Given the description of an element on the screen output the (x, y) to click on. 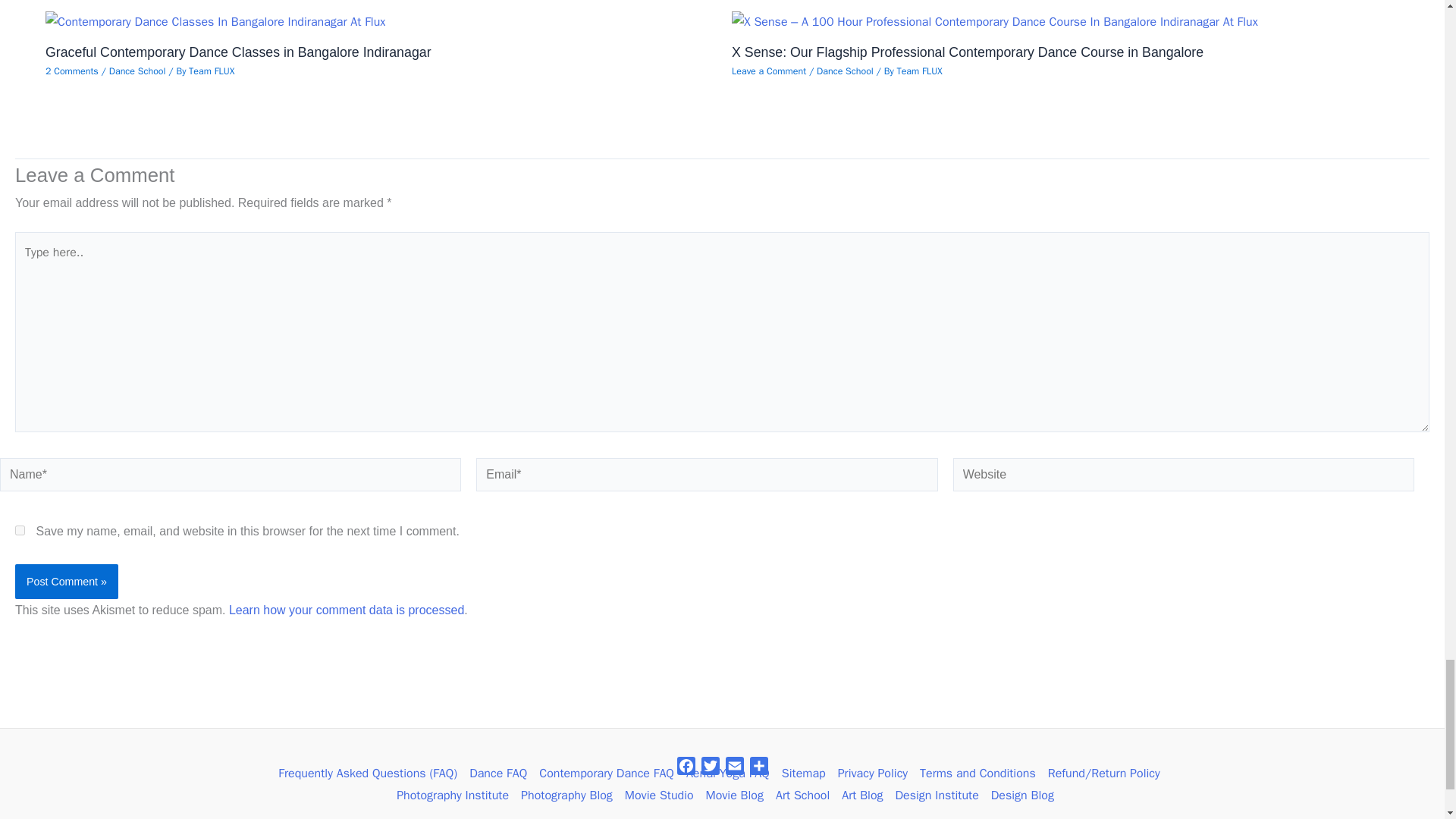
Graceful Contemporary Dance Classes In Bangalore Indiranagar (215, 22)
View all posts by Team FLUX (919, 70)
yes (19, 530)
View all posts by Team FLUX (211, 70)
